Given the description of an element on the screen output the (x, y) to click on. 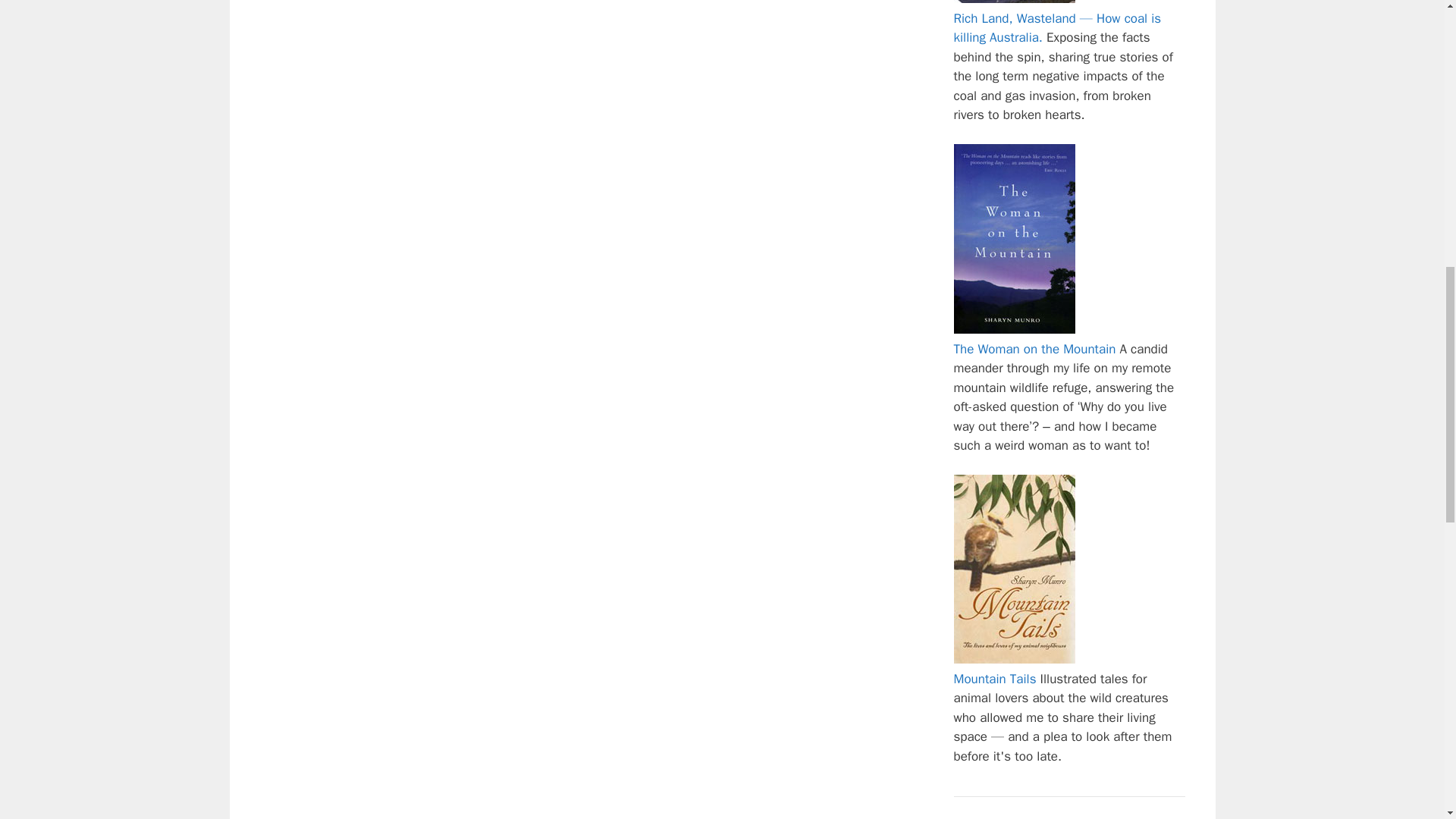
Mountain Tails (994, 678)
The Woman on the Mountain (1034, 349)
